Given the description of an element on the screen output the (x, y) to click on. 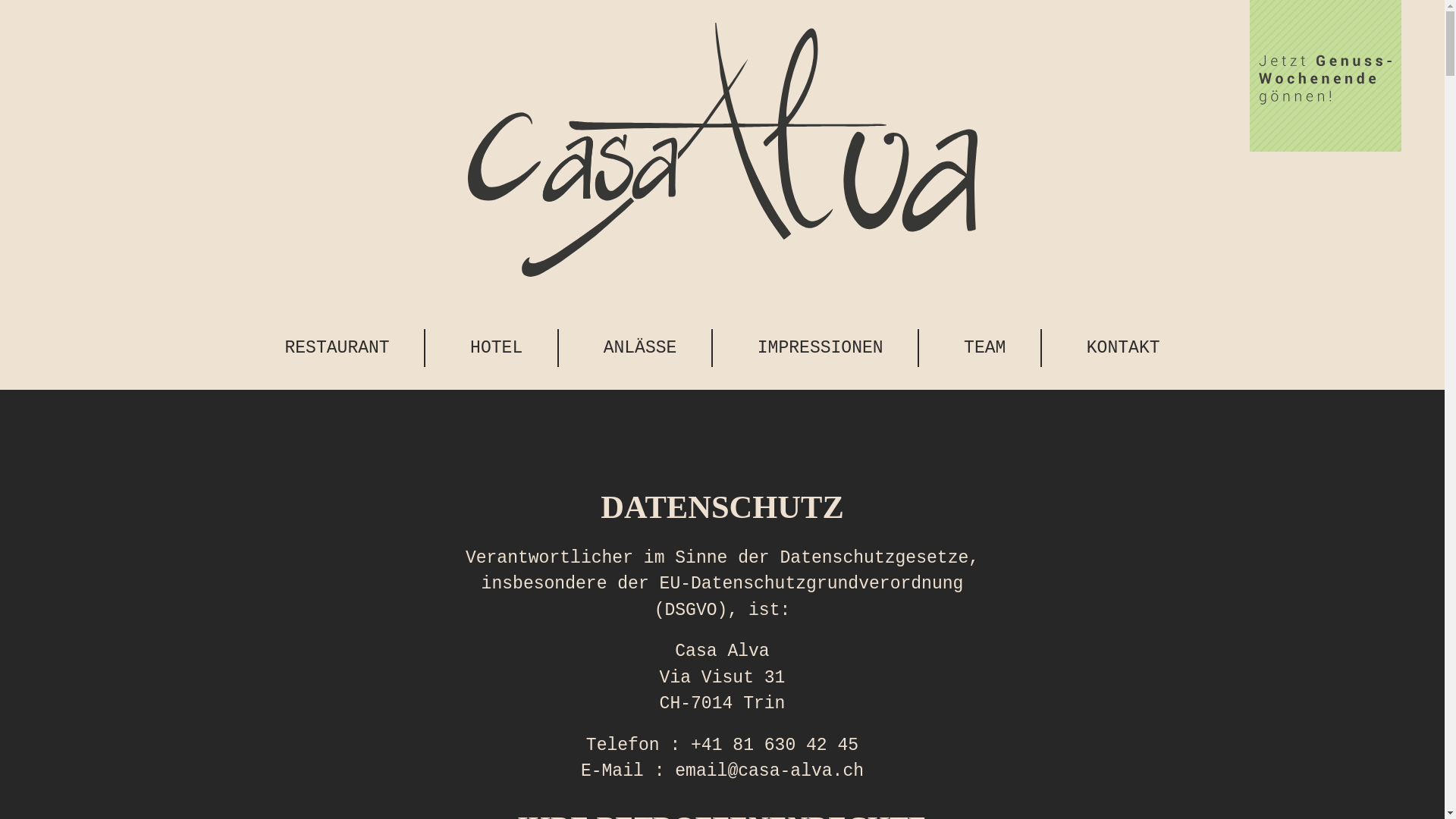
RESTAURANT Element type: text (337, 348)
TEAM Element type: text (985, 348)
KONTAKT Element type: text (1123, 348)
IMPRESSIONEN Element type: text (821, 348)
HOTEL Element type: text (497, 348)
